Given the description of an element on the screen output the (x, y) to click on. 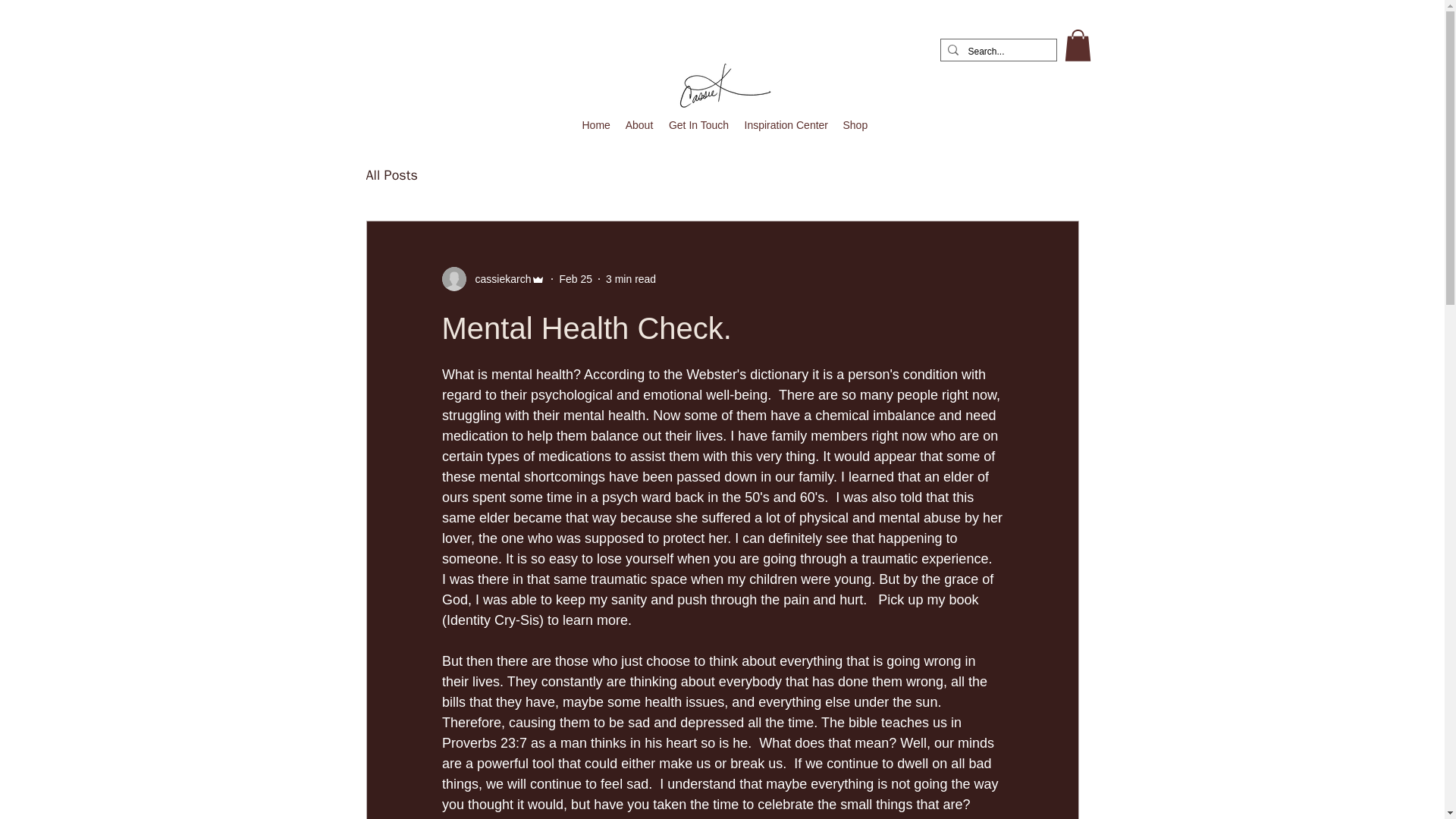
Feb 25 (575, 278)
All Posts (390, 175)
About (639, 124)
Shop (855, 124)
cassiekarch (498, 279)
Get In Touch (698, 124)
Inspiration Center (785, 124)
Home (596, 124)
3 min read (630, 278)
